Given the description of an element on the screen output the (x, y) to click on. 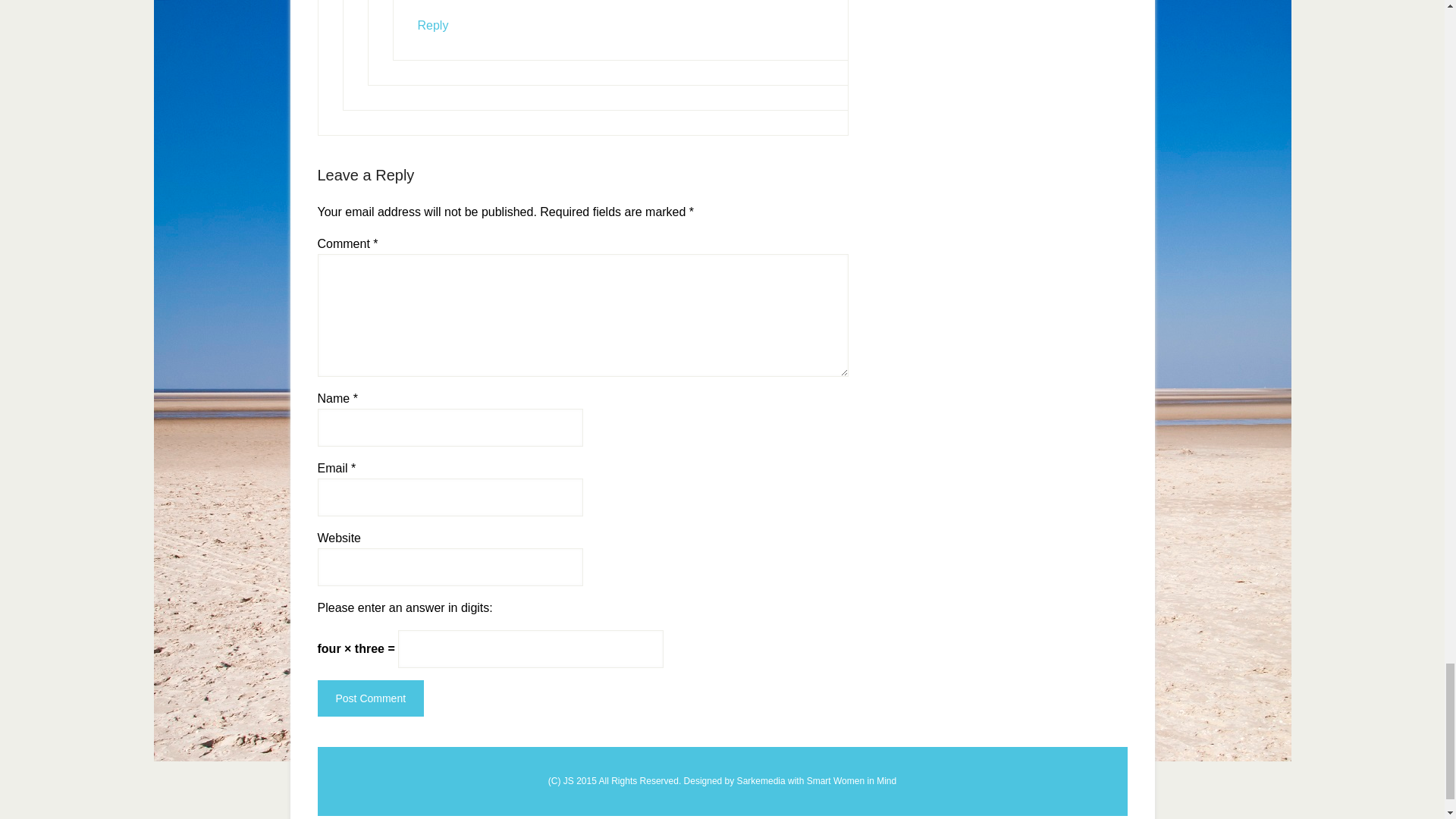
Post Comment (370, 698)
Post Comment (370, 698)
Designed by Sarkemedia (735, 780)
Reply (432, 24)
